Given the description of an element on the screen output the (x, y) to click on. 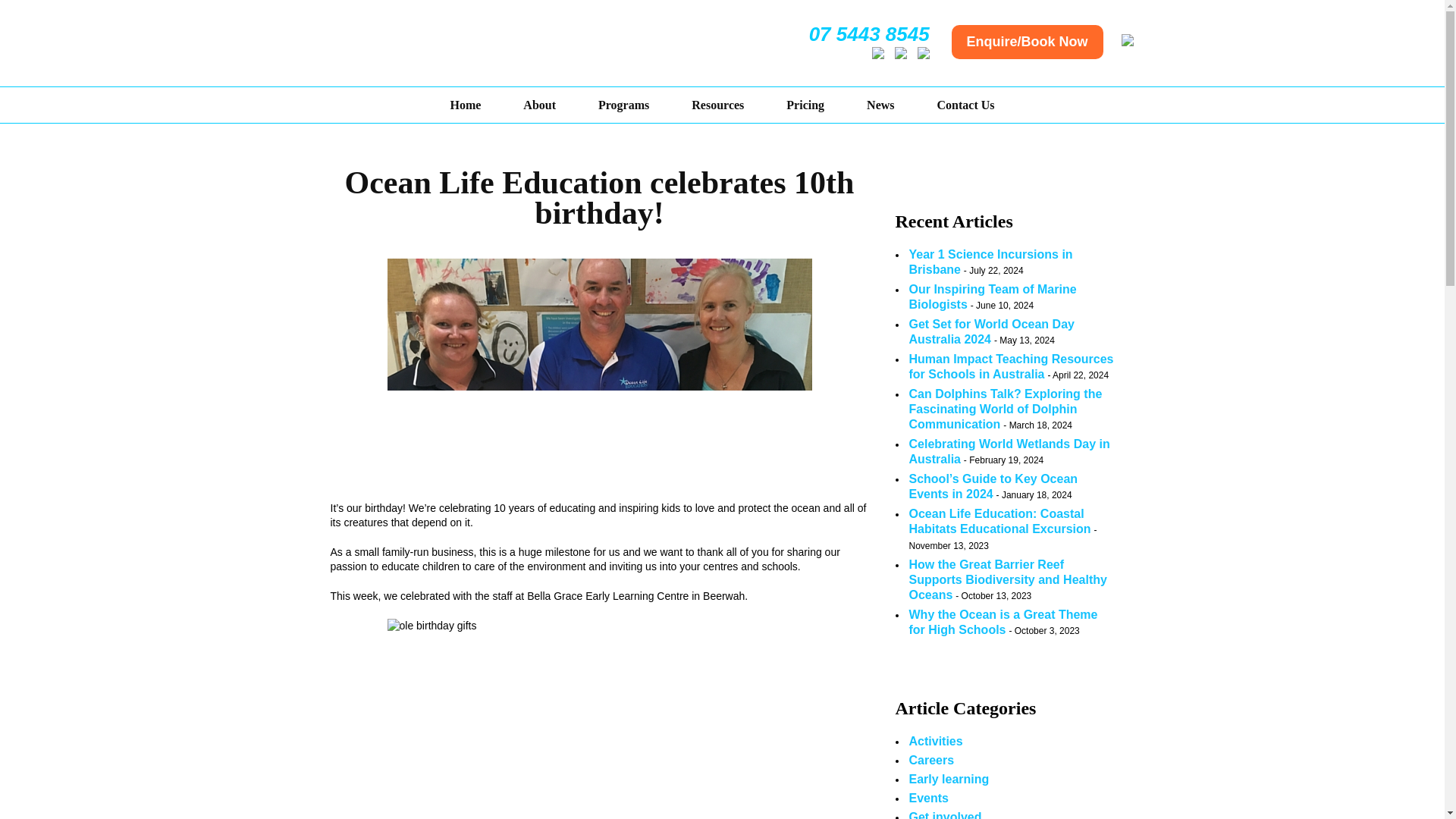
Pricing (805, 104)
About (539, 104)
News (880, 104)
Contact Us (965, 104)
ocean life education programs (622, 104)
Home (465, 104)
07 5443 8545 (869, 33)
Programs (622, 104)
Resources (717, 104)
